Given the description of an element on the screen output the (x, y) to click on. 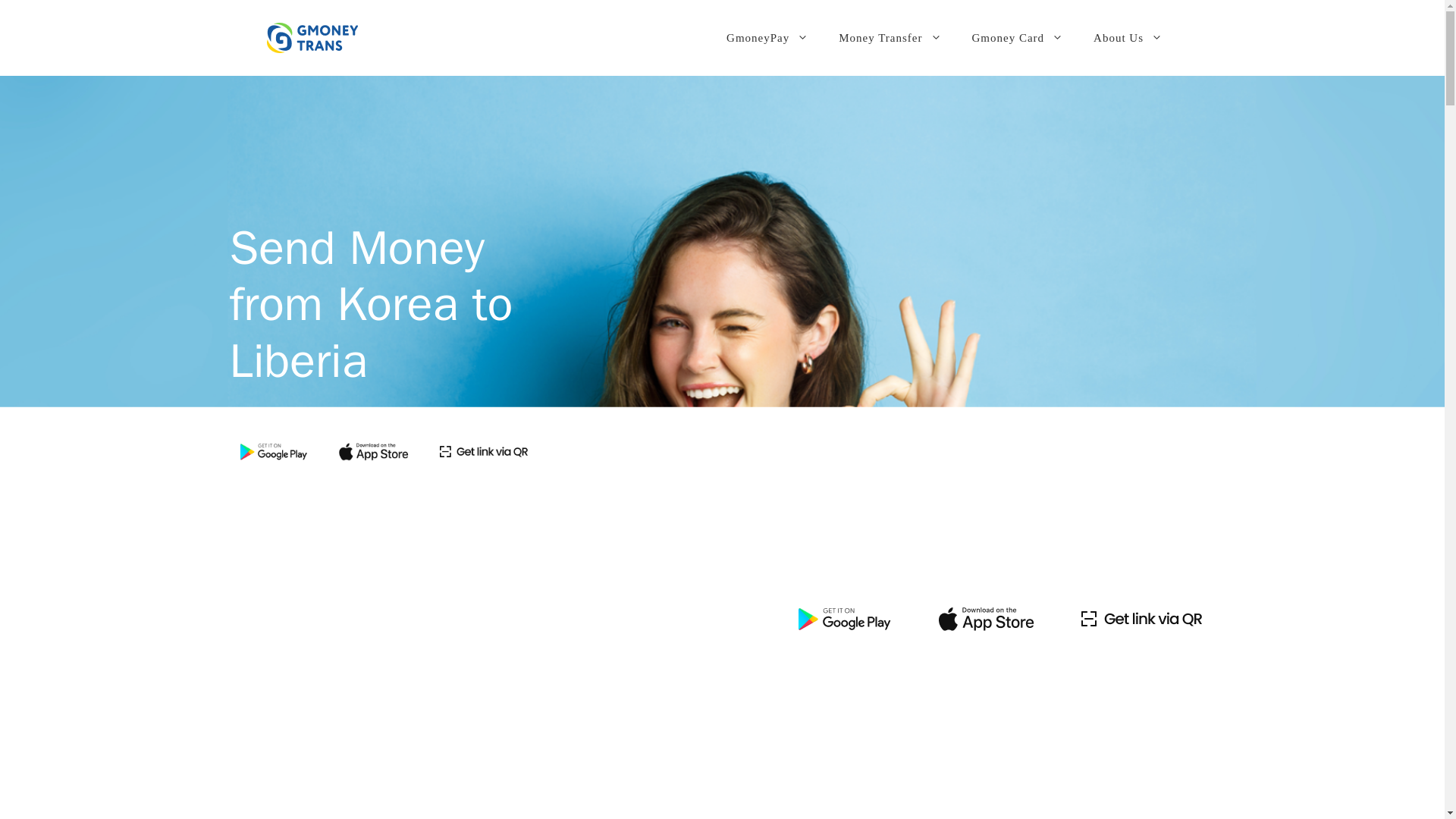
GmoneyPay (767, 37)
btn3-1 (483, 450)
btn3-1 (1141, 618)
btn2 (373, 450)
Gmoney Card (1017, 37)
About Us (1127, 37)
Money Transfer (890, 37)
btn2 (986, 618)
btn1 (844, 618)
btn1 (272, 450)
